Given the description of an element on the screen output the (x, y) to click on. 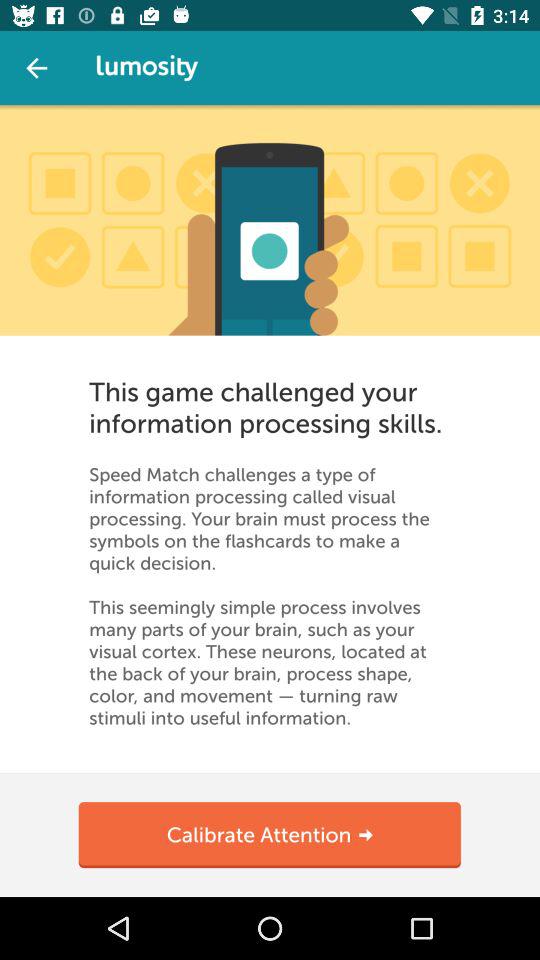
exit out of setup (36, 68)
